Given the description of an element on the screen output the (x, y) to click on. 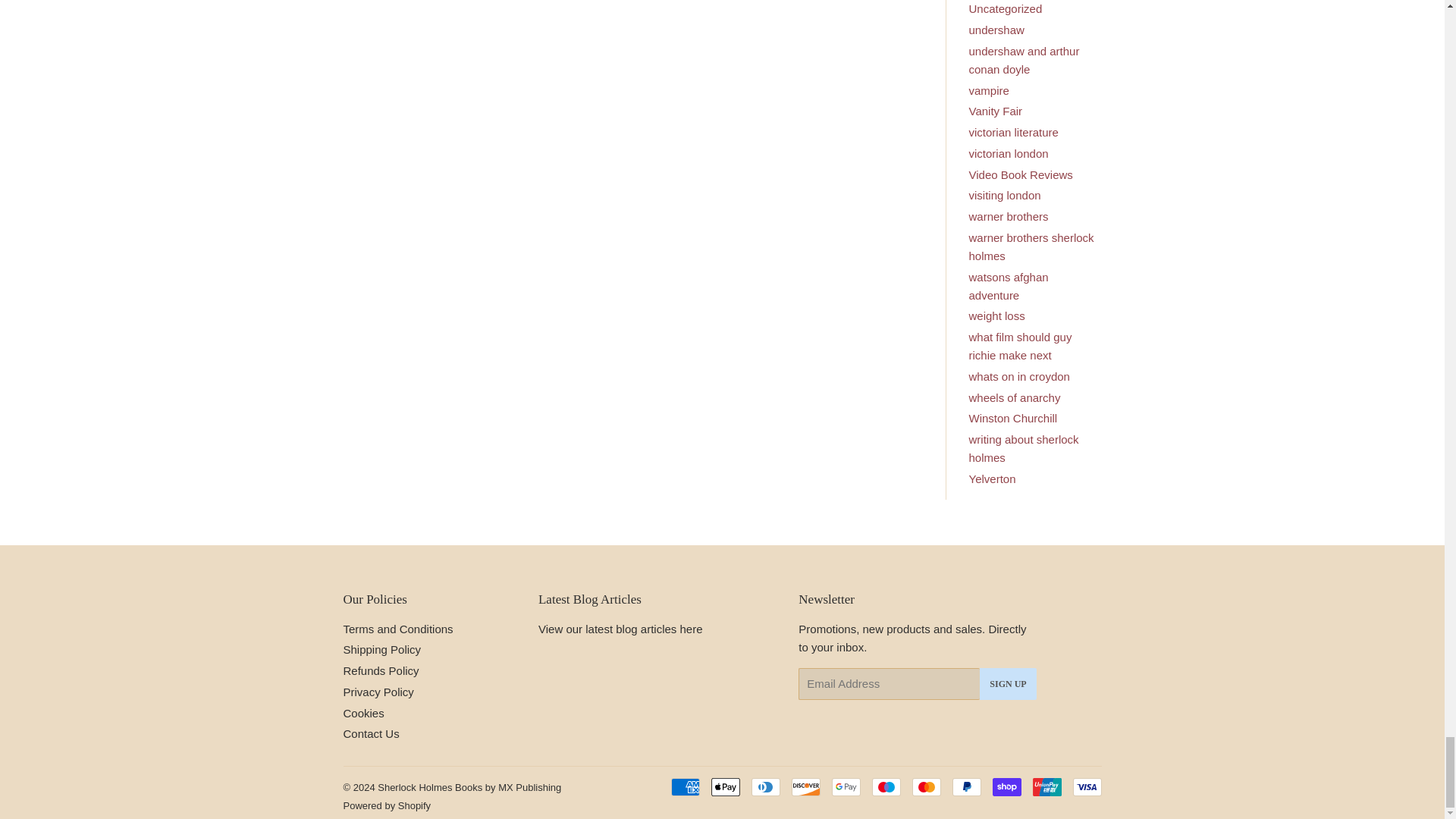
PayPal (966, 787)
Google Pay (845, 787)
Maestro (886, 787)
Visa (1085, 787)
Discover (806, 787)
American Express (683, 787)
Shop Pay (1005, 787)
Mastercard (925, 787)
Union Pay (1046, 787)
Apple Pay (725, 787)
